Given the description of an element on the screen output the (x, y) to click on. 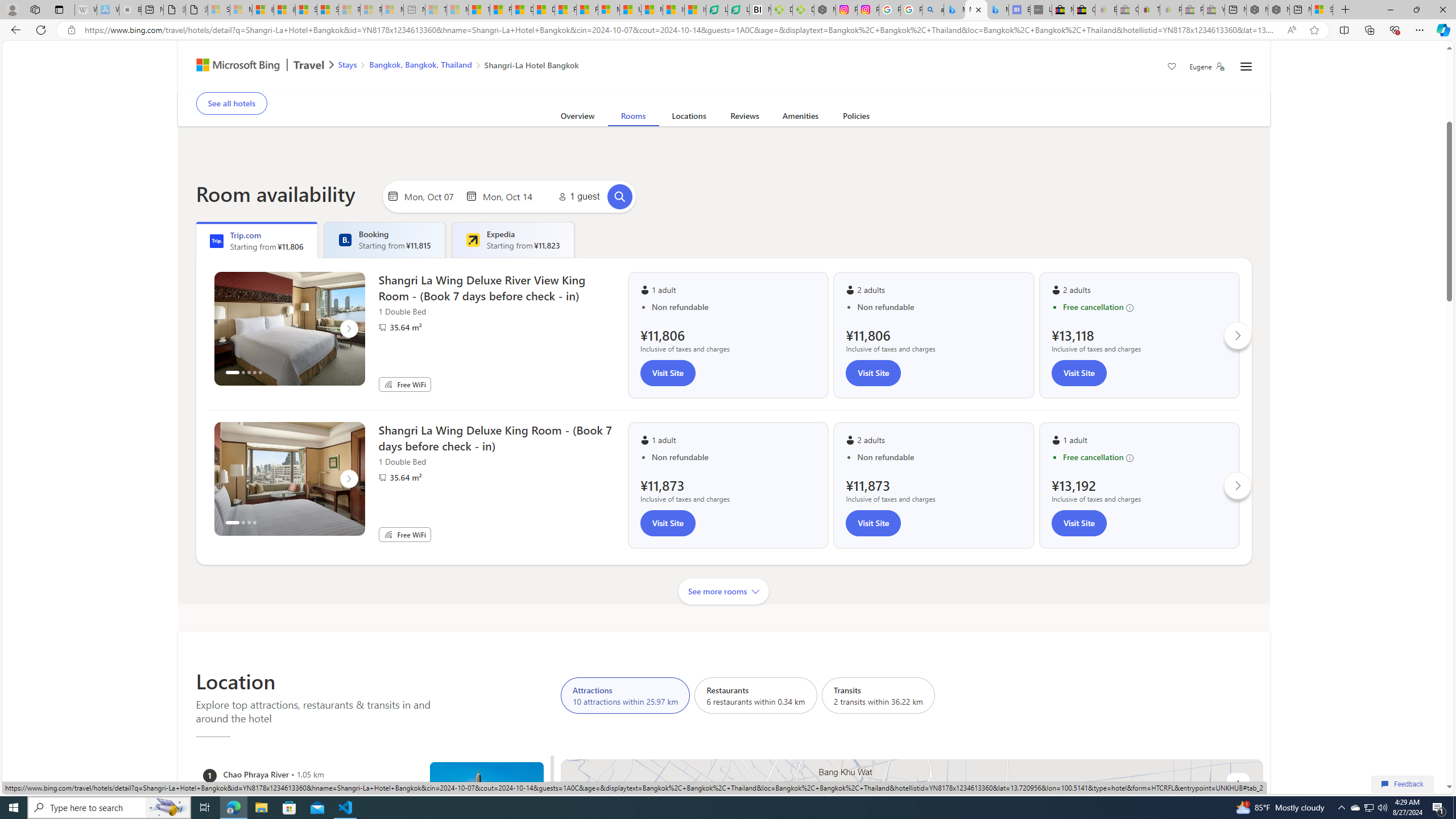
Trip.com (1205, 61)
Transits 2 transits within 36.22 km (878, 695)
Food and Drink - MSN (500, 9)
Class: msft-travel-logo (308, 64)
+12 More Amenities (749, 91)
Booking (344, 239)
Payments Terms of Use | eBay.com - Sleeping (1170, 9)
Class: msft-bing-logo msft-bing-logo-desktop (234, 64)
